Given the description of an element on the screen output the (x, y) to click on. 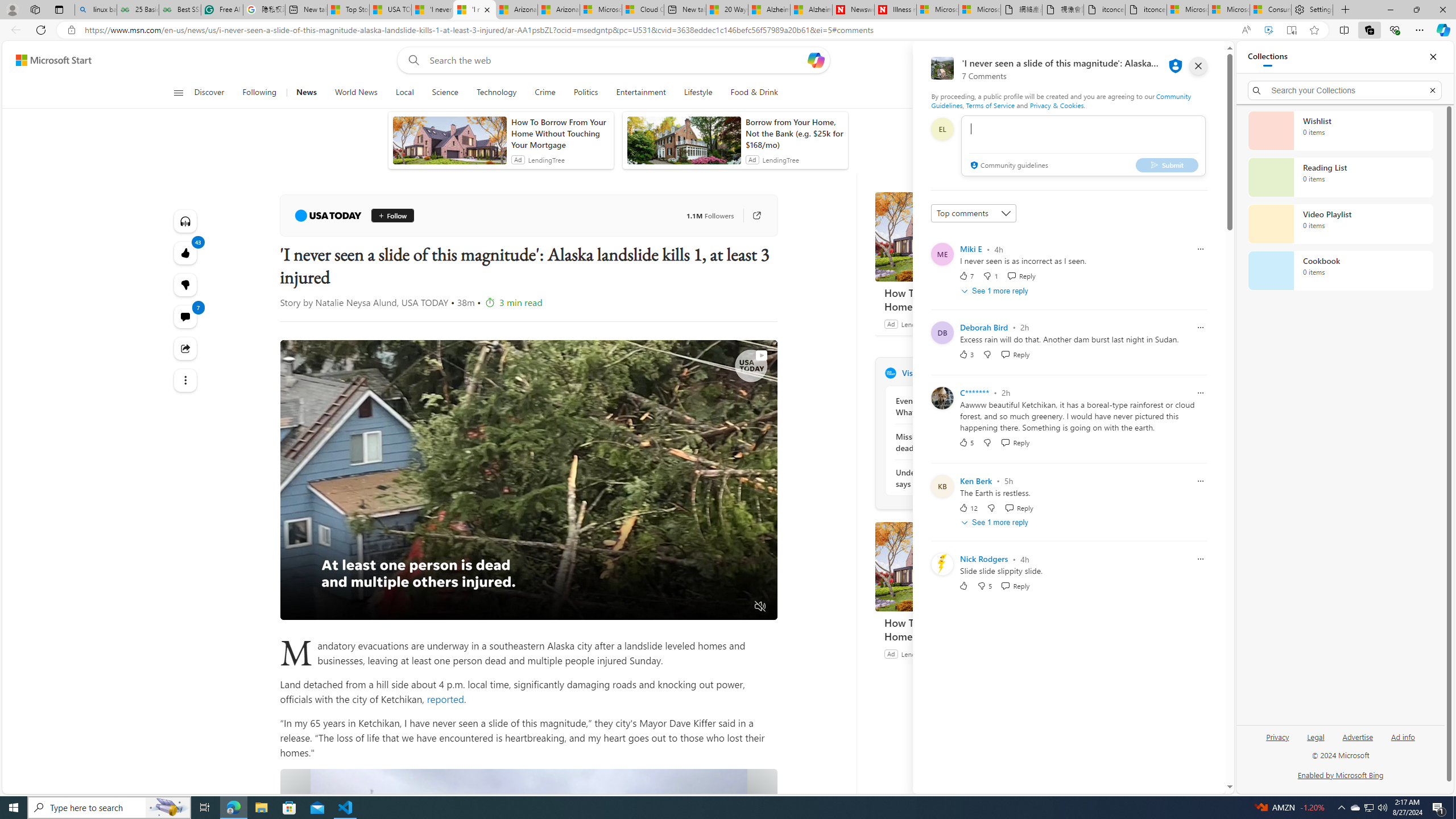
linux basic - Search (95, 9)
Progress Bar (528, 592)
Captions (716, 606)
Privacy & Cookies (1056, 104)
View comments 7 Comment (184, 316)
Wishlist collection, 0 items (1339, 130)
